Given the description of an element on the screen output the (x, y) to click on. 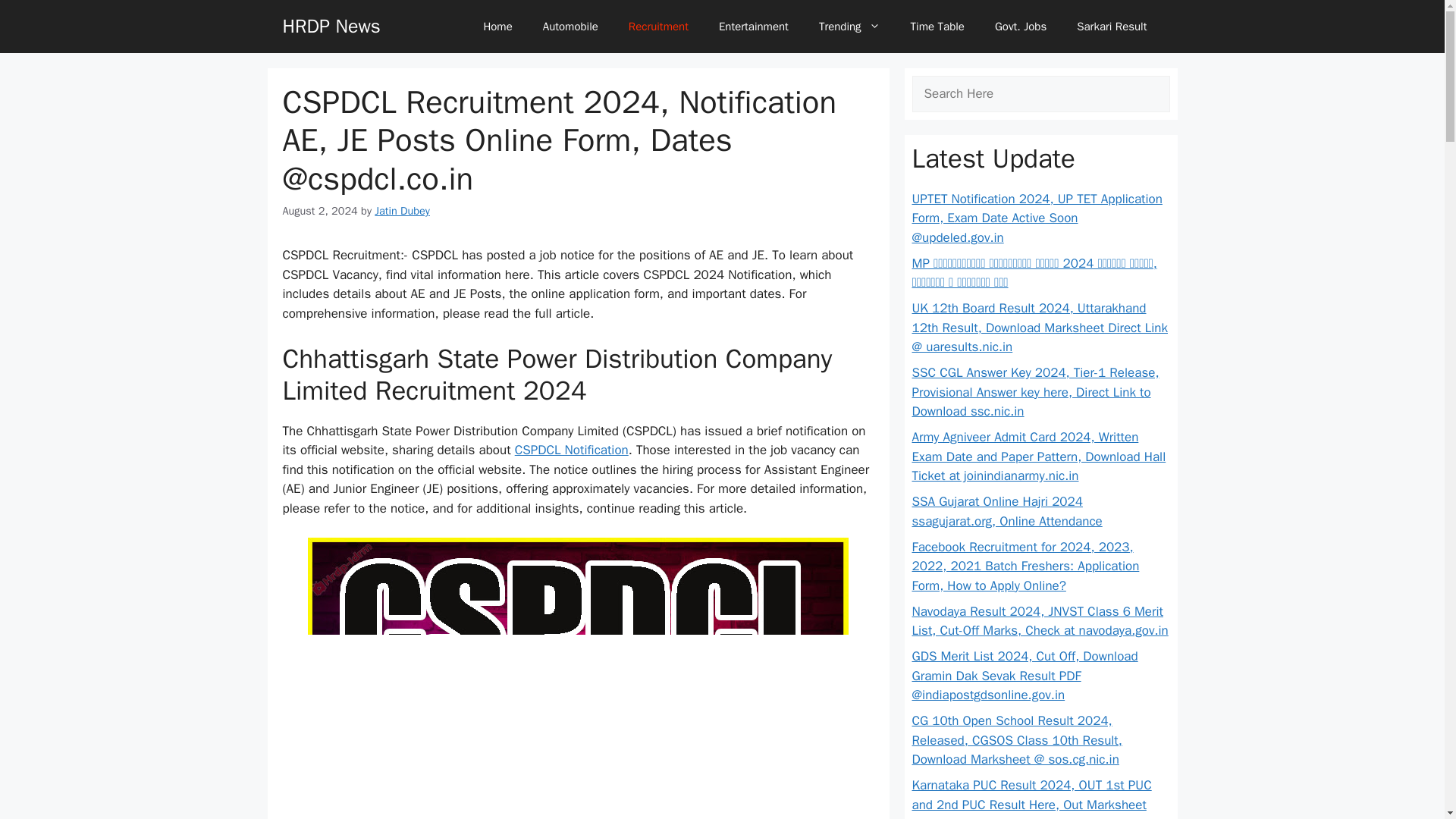
CSPDCL Notification (571, 449)
Entertainment (753, 26)
Home (497, 26)
Jatin Dubey (401, 210)
View all posts by Jatin Dubey (401, 210)
Automobile (569, 26)
Sarkari Result (1111, 26)
Govt. Jobs (1020, 26)
Trending (849, 26)
Recruitment (657, 26)
